Given the description of an element on the screen output the (x, y) to click on. 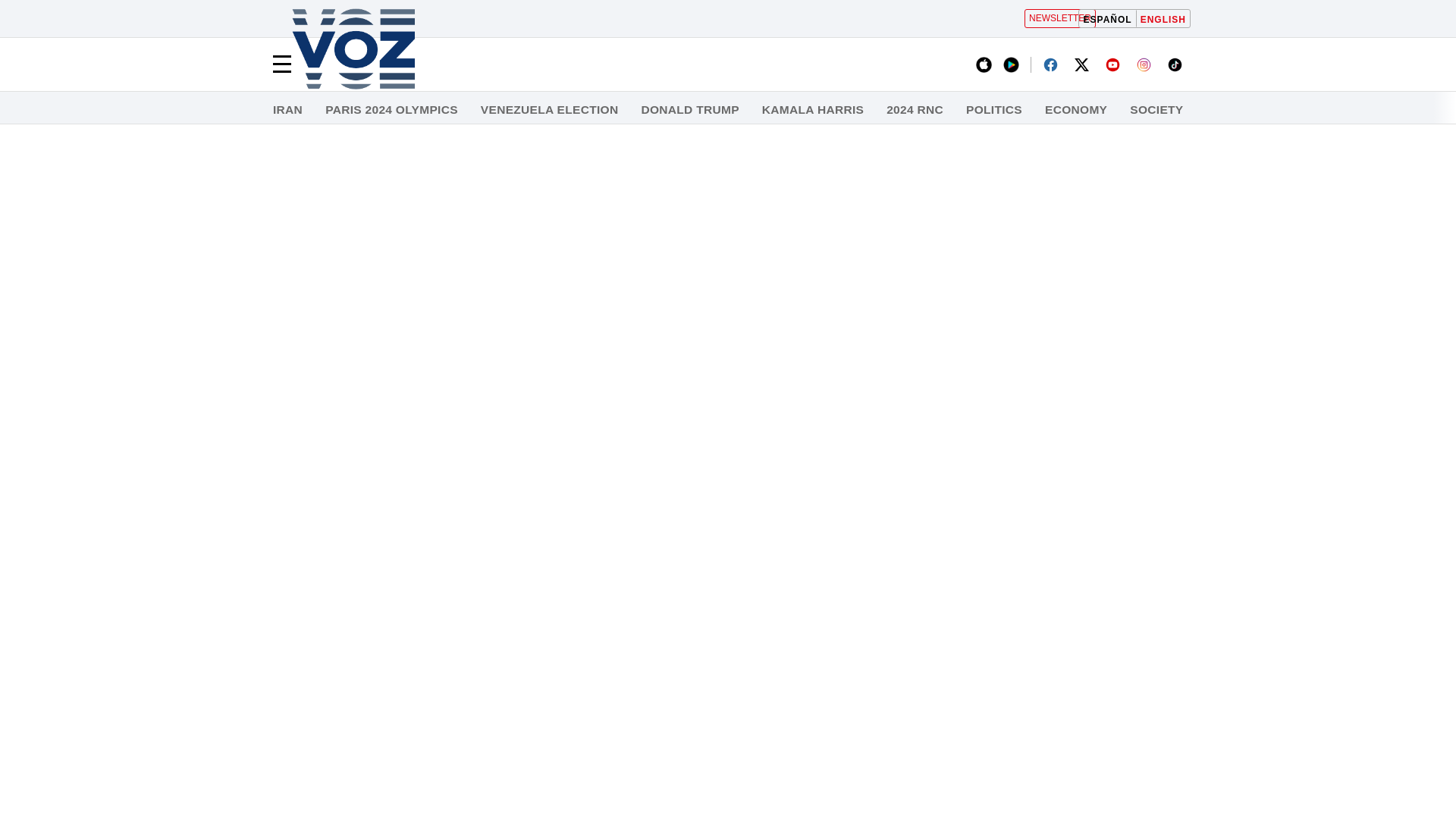
Politics (994, 110)
Paris 2024 Olympics (391, 110)
Sports (1372, 110)
Voz.us (353, 50)
SOCIETY (1155, 110)
Economy (1075, 110)
2024 RNC (914, 110)
PARIS 2024 OLYMPICS (391, 110)
Society (1155, 110)
2024 RNC (914, 110)
